Given the description of an element on the screen output the (x, y) to click on. 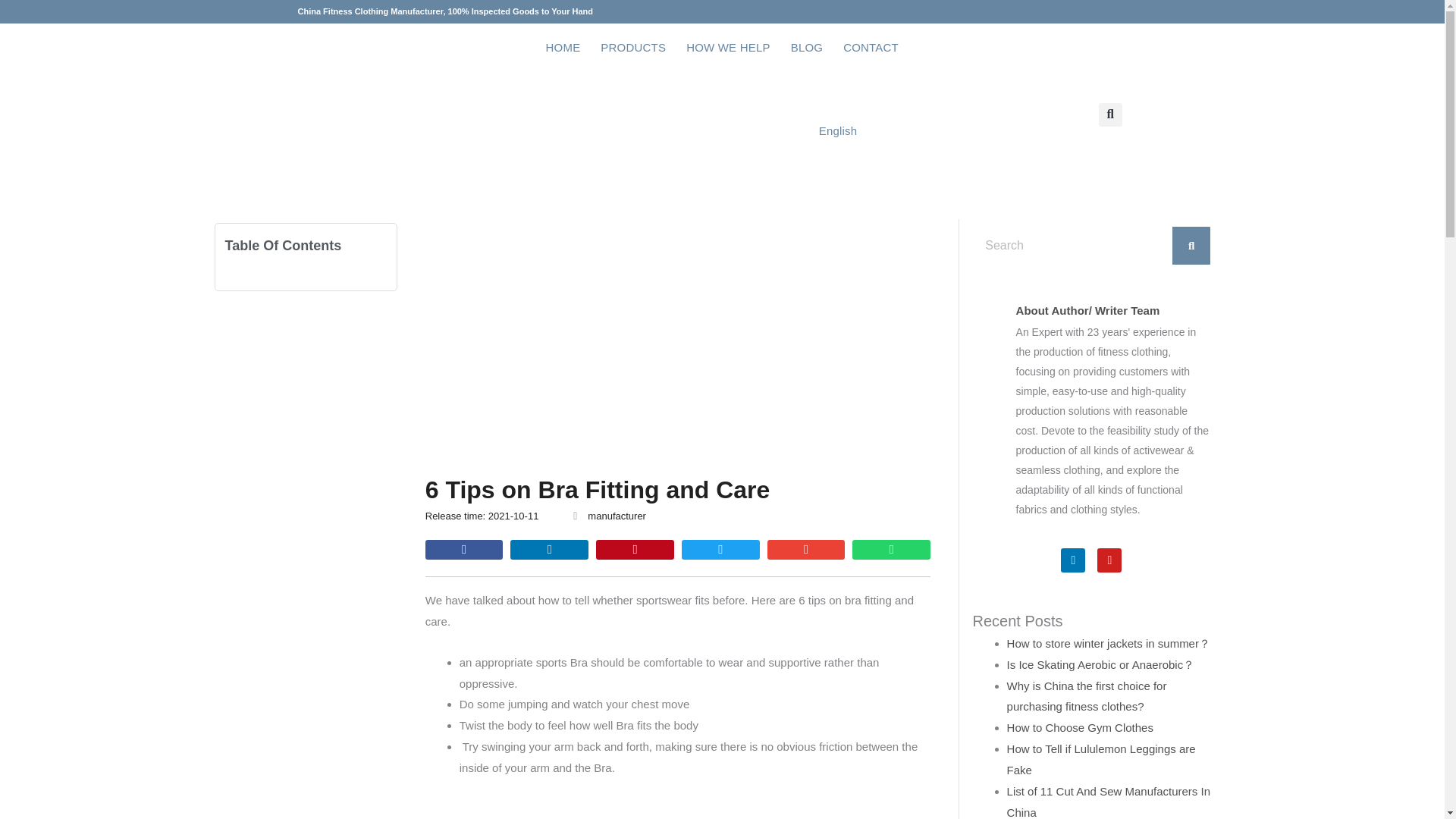
English (722, 131)
English (722, 131)
PRODUCTS (633, 47)
HOW WE HELP (728, 47)
HOME (563, 47)
CONTACT (870, 47)
BLOG (806, 47)
